Given the description of an element on the screen output the (x, y) to click on. 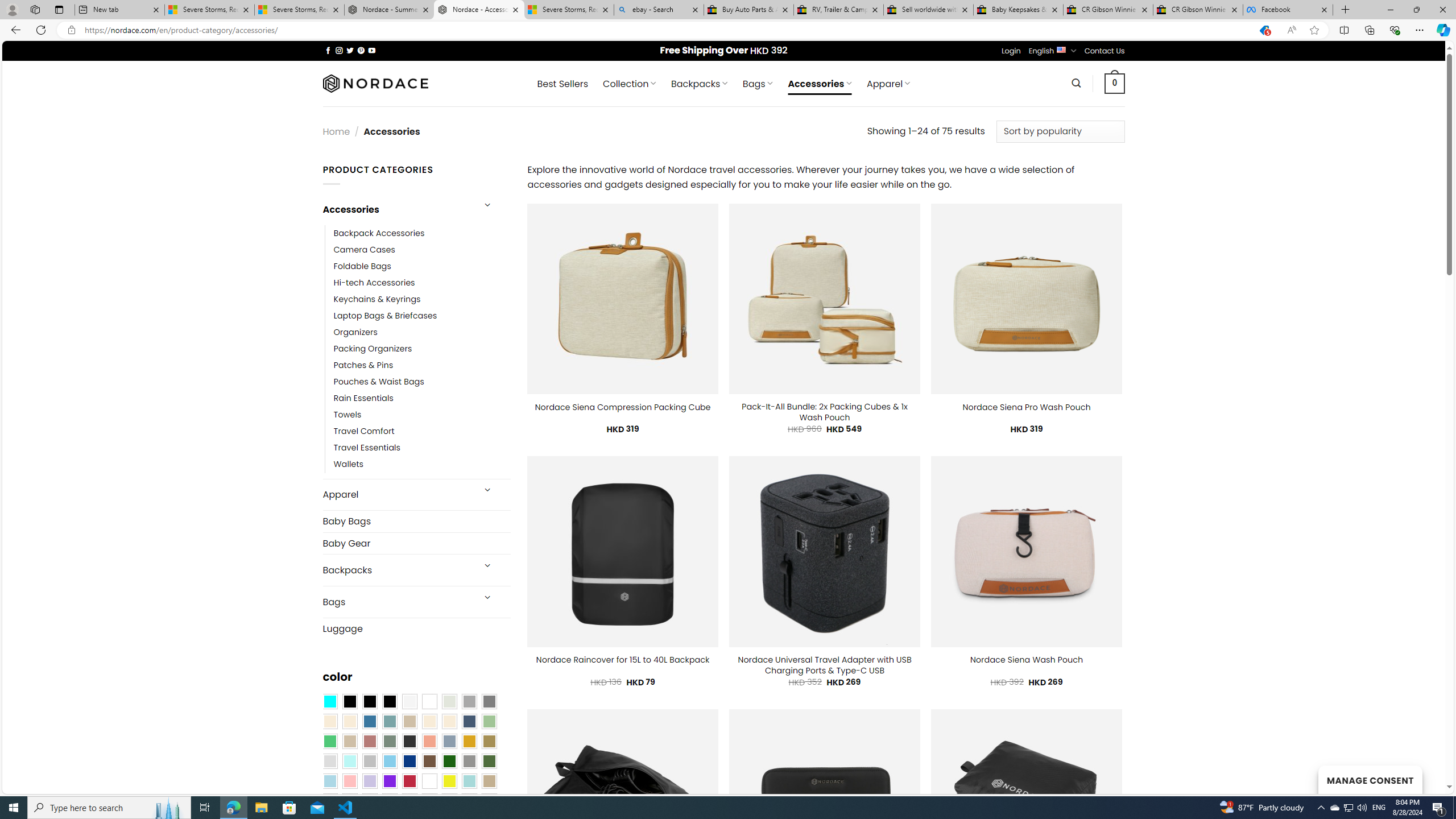
Organizers (355, 332)
Personal Profile (12, 9)
Towels (422, 415)
MANAGE CONSENT (1369, 779)
Mint (349, 761)
Dark Gray (468, 701)
Light Gray (329, 761)
Nordace (374, 83)
Browser essentials (1394, 29)
